Given the description of an element on the screen output the (x, y) to click on. 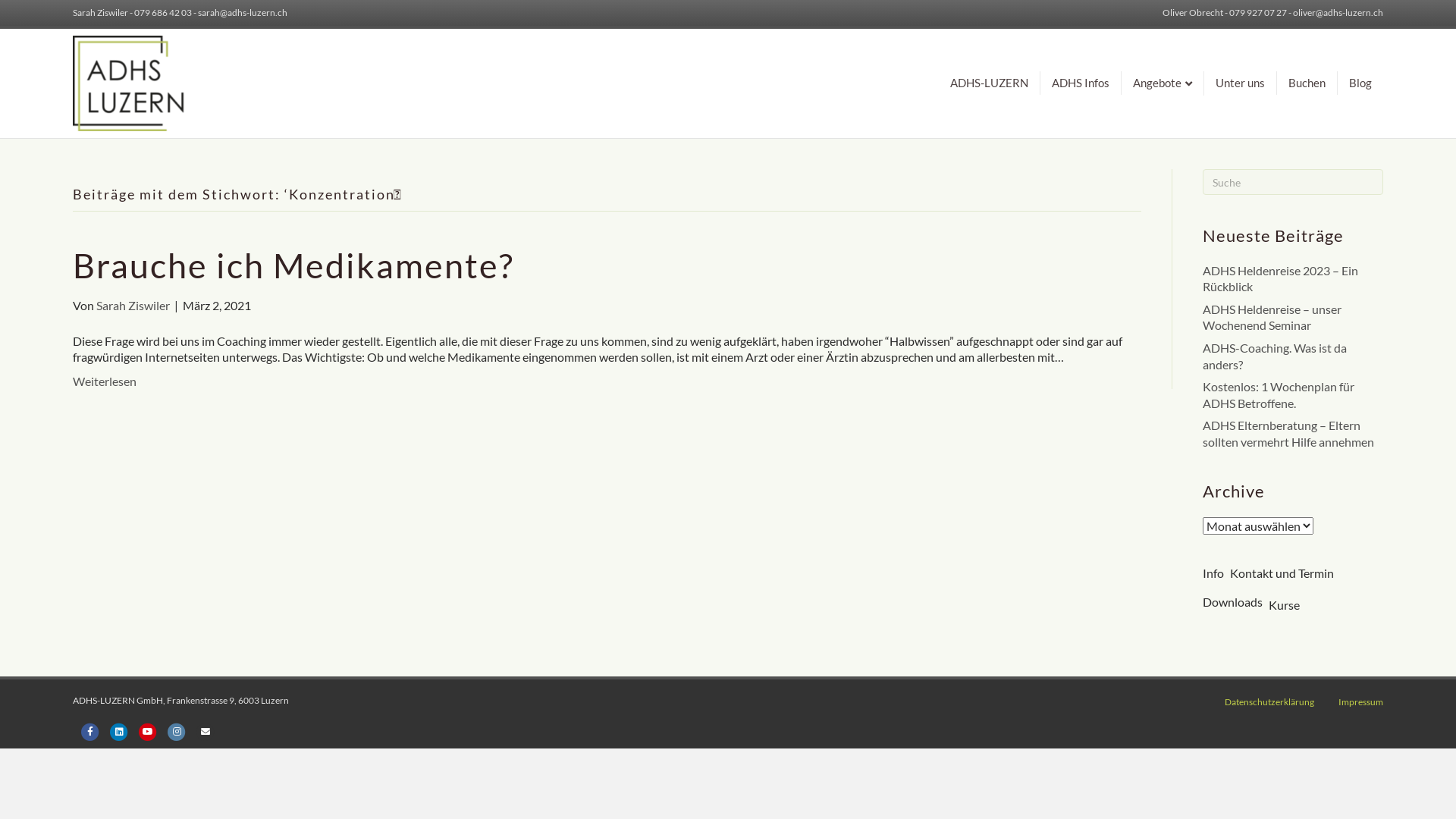
Youtube Element type: text (147, 730)
Suchbegriff hier eingeben ... Element type: hover (1292, 181)
Blog Element type: text (1360, 82)
Impressum Element type: text (1360, 707)
Angebote Element type: text (1162, 83)
ADHS-Coaching. Was ist da anders? Element type: text (1274, 355)
Facebook Element type: text (89, 730)
Kurse Element type: text (1283, 604)
Downloads Element type: text (1232, 601)
Email Element type: text (205, 730)
ADHS-LUZERN Element type: text (989, 82)
Instagram Element type: text (176, 730)
Info Element type: text (1212, 572)
Brauche ich Medikamente? Element type: text (293, 264)
Buchen Element type: text (1307, 82)
Weiterlesen Element type: text (104, 380)
Kontakt und Termin Element type: text (1281, 572)
ADHS Infos Element type: text (1080, 82)
Unter uns Element type: text (1240, 82)
Linkedin Element type: text (118, 730)
Sarah Ziswiler Element type: text (132, 305)
